Given the description of an element on the screen output the (x, y) to click on. 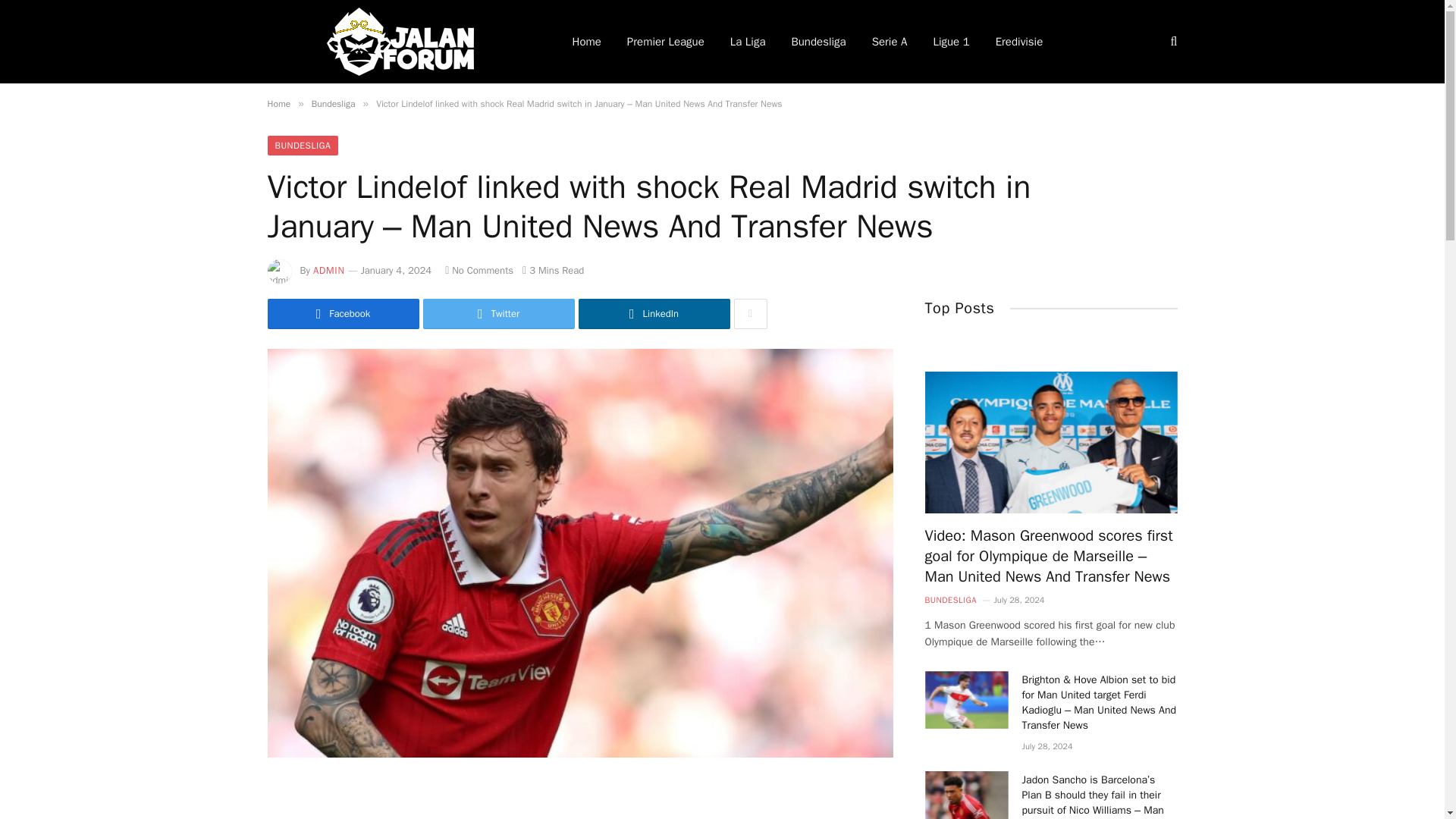
Share on LinkedIn (653, 313)
Jalanforum News (399, 41)
Share on Facebook (342, 313)
ADMIN (329, 269)
Bundesliga (818, 41)
Bundesliga (333, 103)
Facebook (342, 313)
Share on Twitter (499, 313)
BUNDESLIGA (301, 145)
Posts by admin (329, 269)
Home (277, 103)
No Comments (479, 269)
Premier League (665, 41)
LinkedIn (653, 313)
Twitter (499, 313)
